Given the description of an element on the screen output the (x, y) to click on. 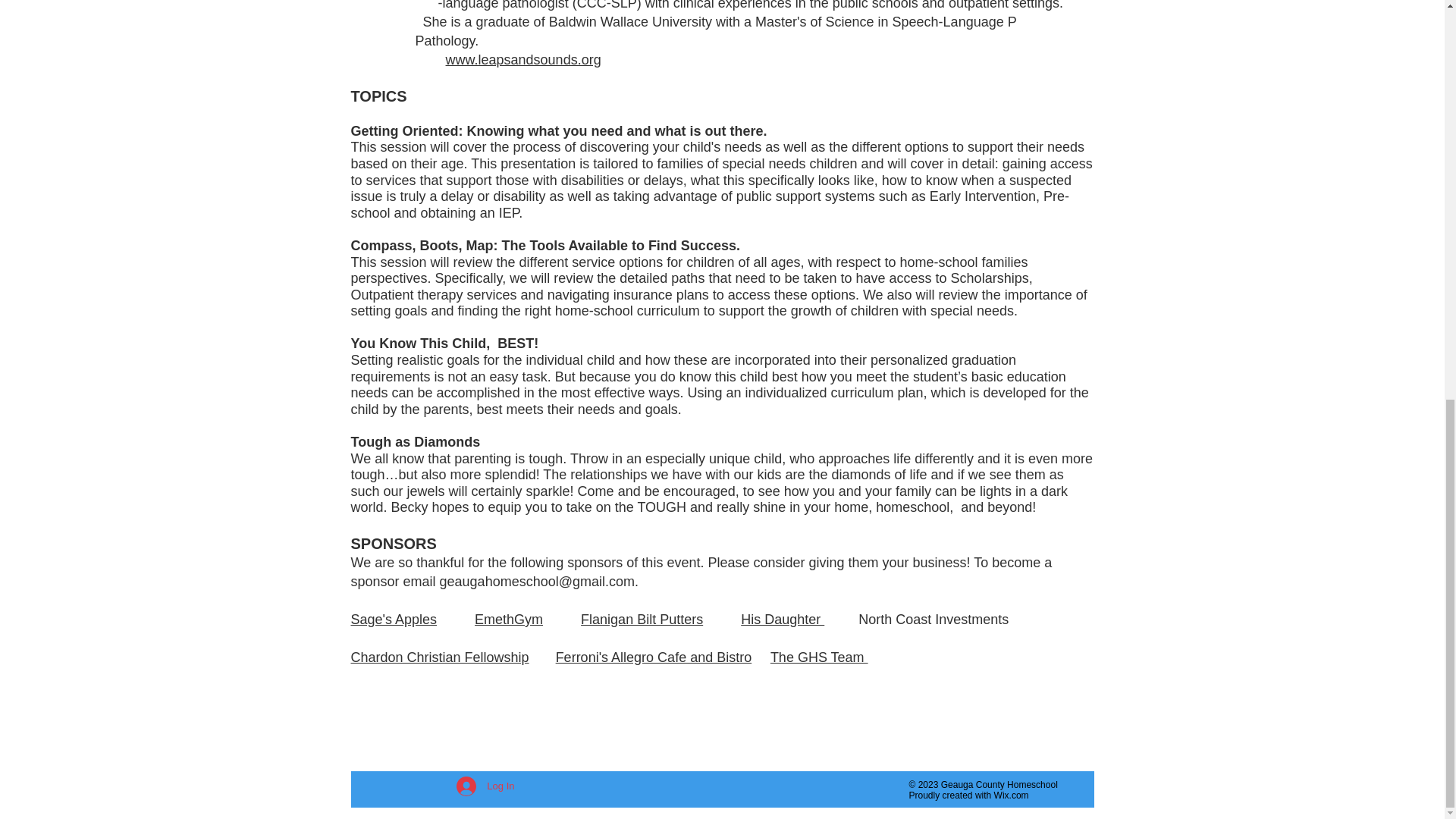
Flanigan Bilt Putters (641, 619)
EmethGym (508, 619)
Chardon Christian Fellowship (439, 657)
His Daughter  (782, 619)
Wix.com (1011, 795)
Log In (484, 786)
Ferroni's Allegro Cafe and Bistro (654, 657)
The GHS Team  (818, 657)
www.leapsandsounds.org (523, 59)
Sage's Apples (393, 619)
